Given the description of an element on the screen output the (x, y) to click on. 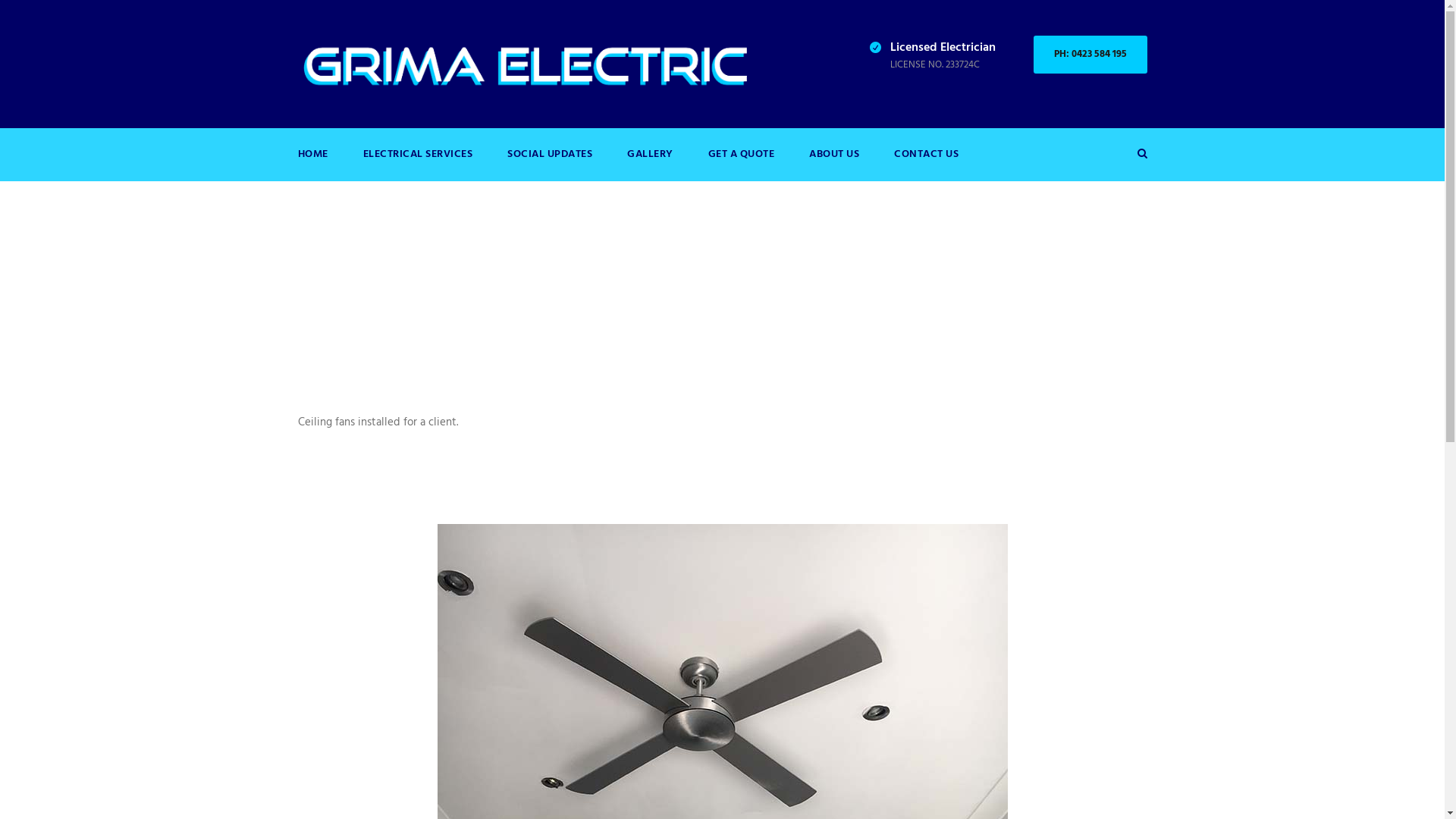
CONTACT US Element type: text (926, 163)
ELECTRICAL SERVICES Element type: text (417, 163)
PH: 0423 584 195 Element type: text (1089, 54)
HOME Element type: text (312, 163)
GET A QUOTE Element type: text (741, 163)
SOCIAL UPDATES Element type: text (549, 163)
ABOUT US Element type: text (834, 163)
GALLERY Element type: text (650, 163)
